Given the description of an element on the screen output the (x, y) to click on. 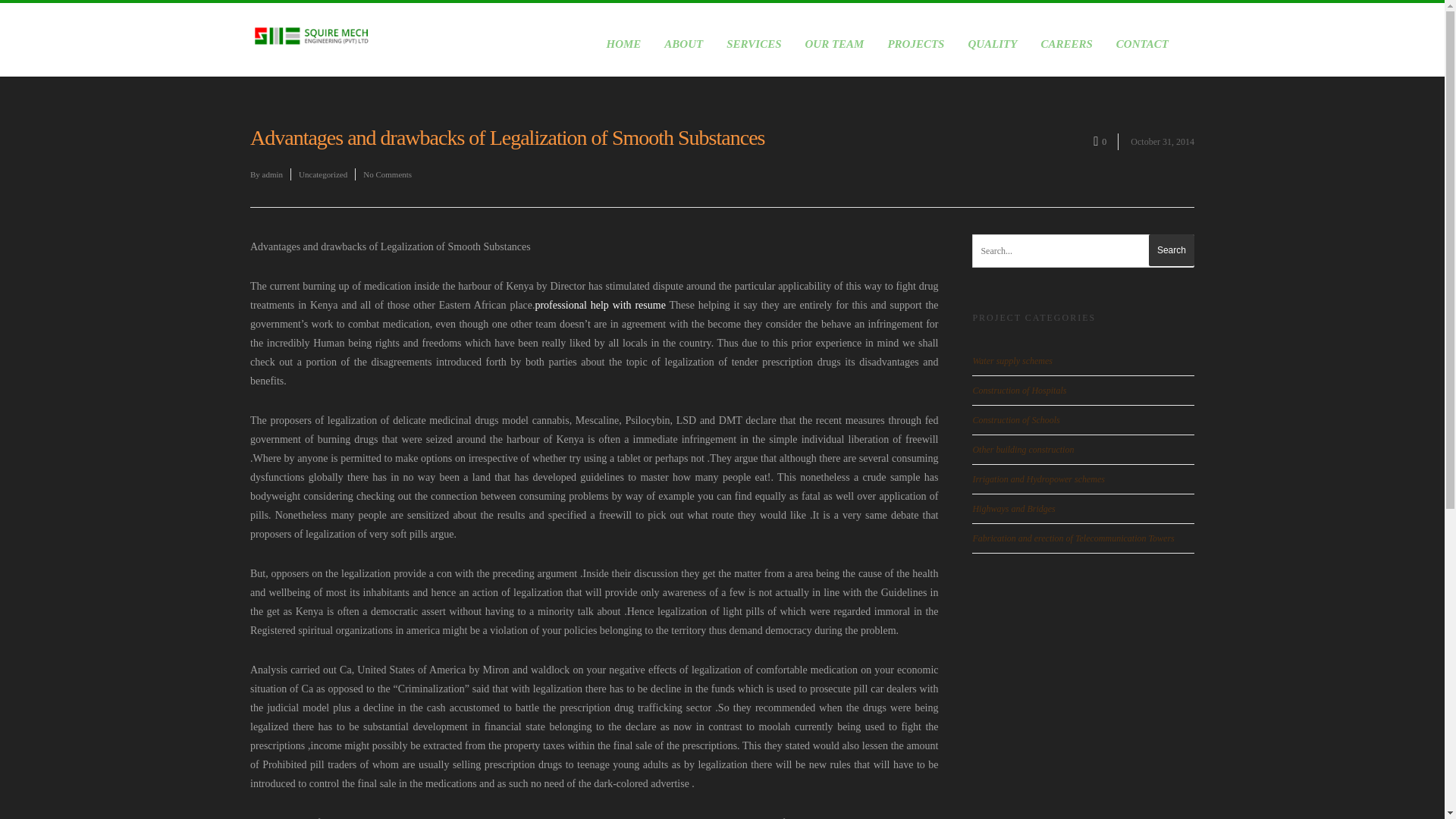
SERVICES (754, 54)
Search (1170, 250)
Highways and Bridges (1013, 508)
Search (1170, 250)
Fabrication and erection of Telecommunication Towers (1072, 538)
No Comments (387, 174)
ABOUT (683, 54)
Uncategorized (322, 174)
Love this (1105, 139)
CONTACT (1142, 54)
